Given the description of an element on the screen output the (x, y) to click on. 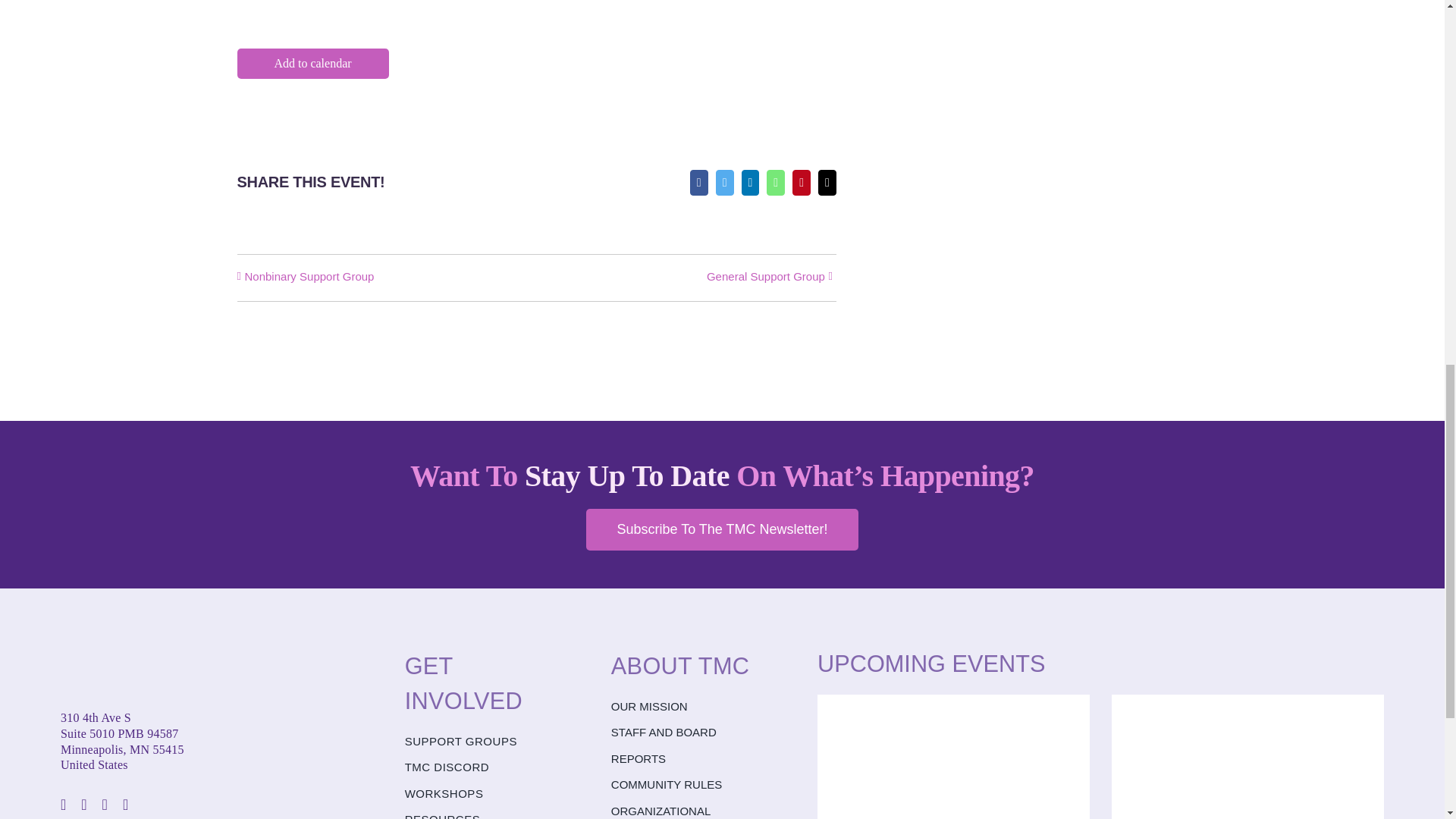
TMC-logo-full-retina (136, 666)
